Given the description of an element on the screen output the (x, y) to click on. 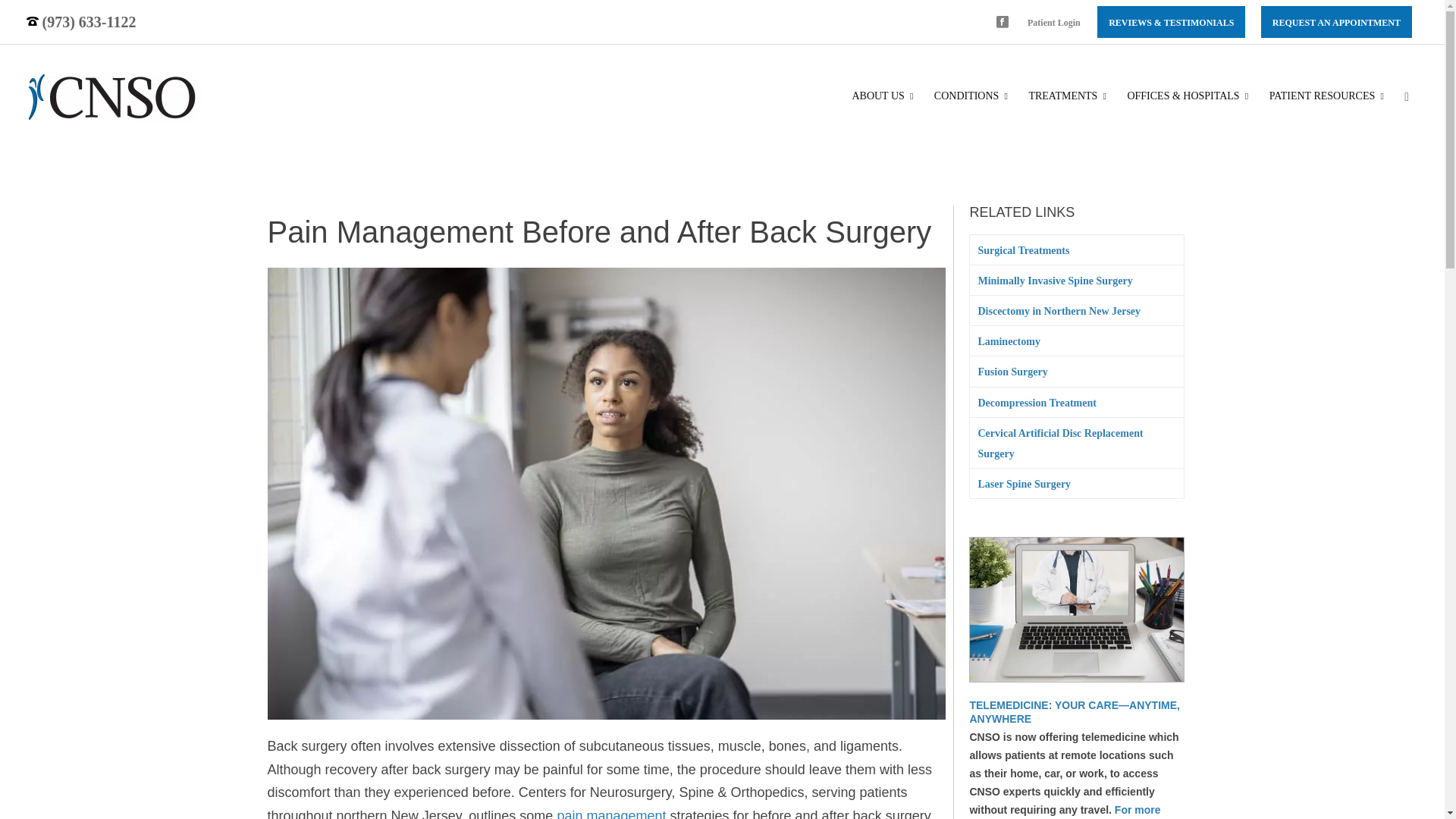
REQUEST AN APPOINTMENT (1336, 22)
CONDITIONS (972, 96)
Patient Login (1053, 22)
